Given the description of an element on the screen output the (x, y) to click on. 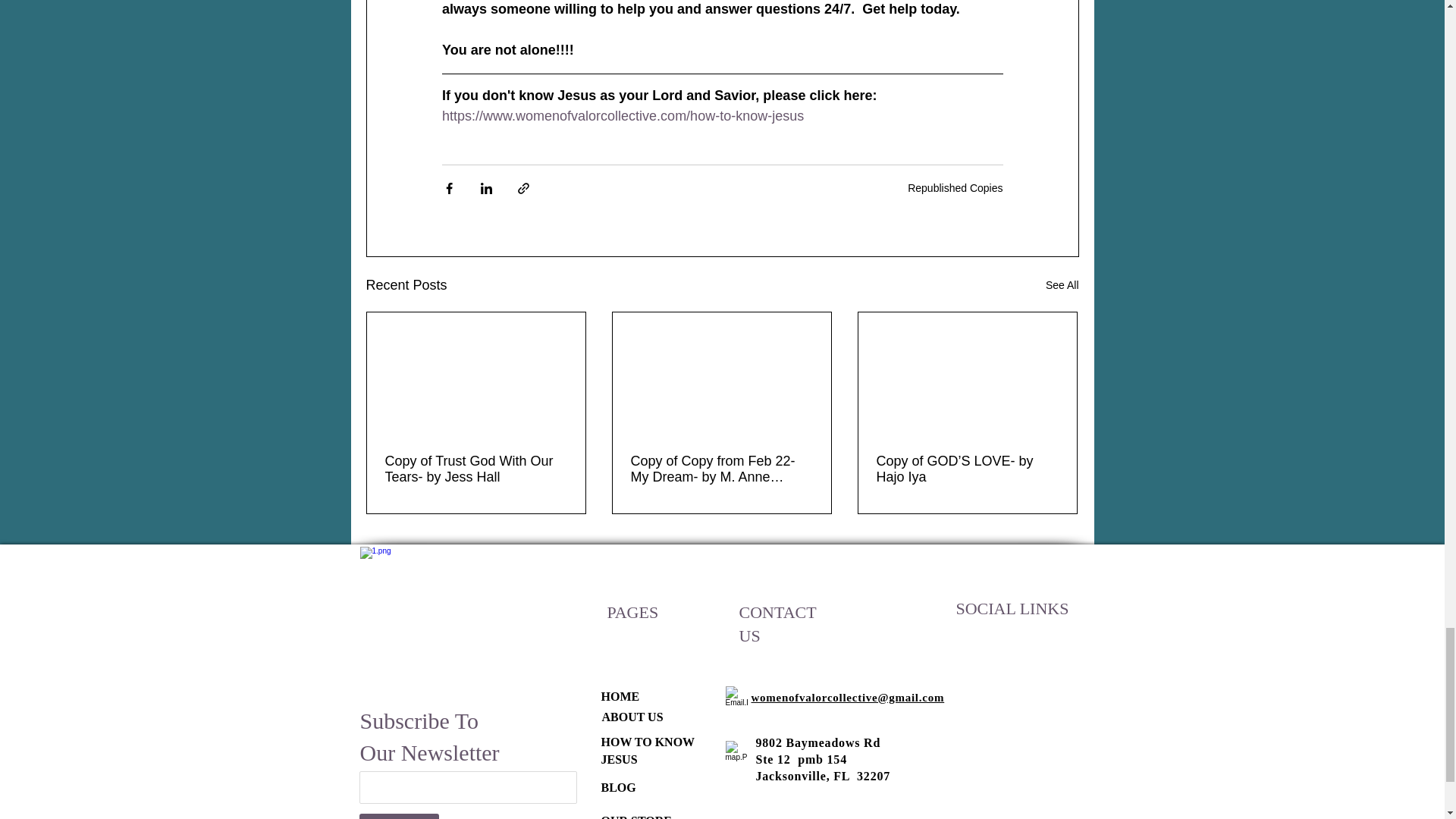
ABOUT US (632, 716)
Copy of Copy from Feb 22- My Dream- by M. Anne Blount (721, 469)
Republished Copies (955, 187)
HOME (619, 696)
See All (1061, 285)
BLOG (616, 787)
Subscribe (399, 816)
HOW TO KNOW JESUS (646, 749)
Copy of Trust God With Our Tears- by Jess Hall (476, 469)
9802 Baymeadows Rd (817, 742)
